Given the description of an element on the screen output the (x, y) to click on. 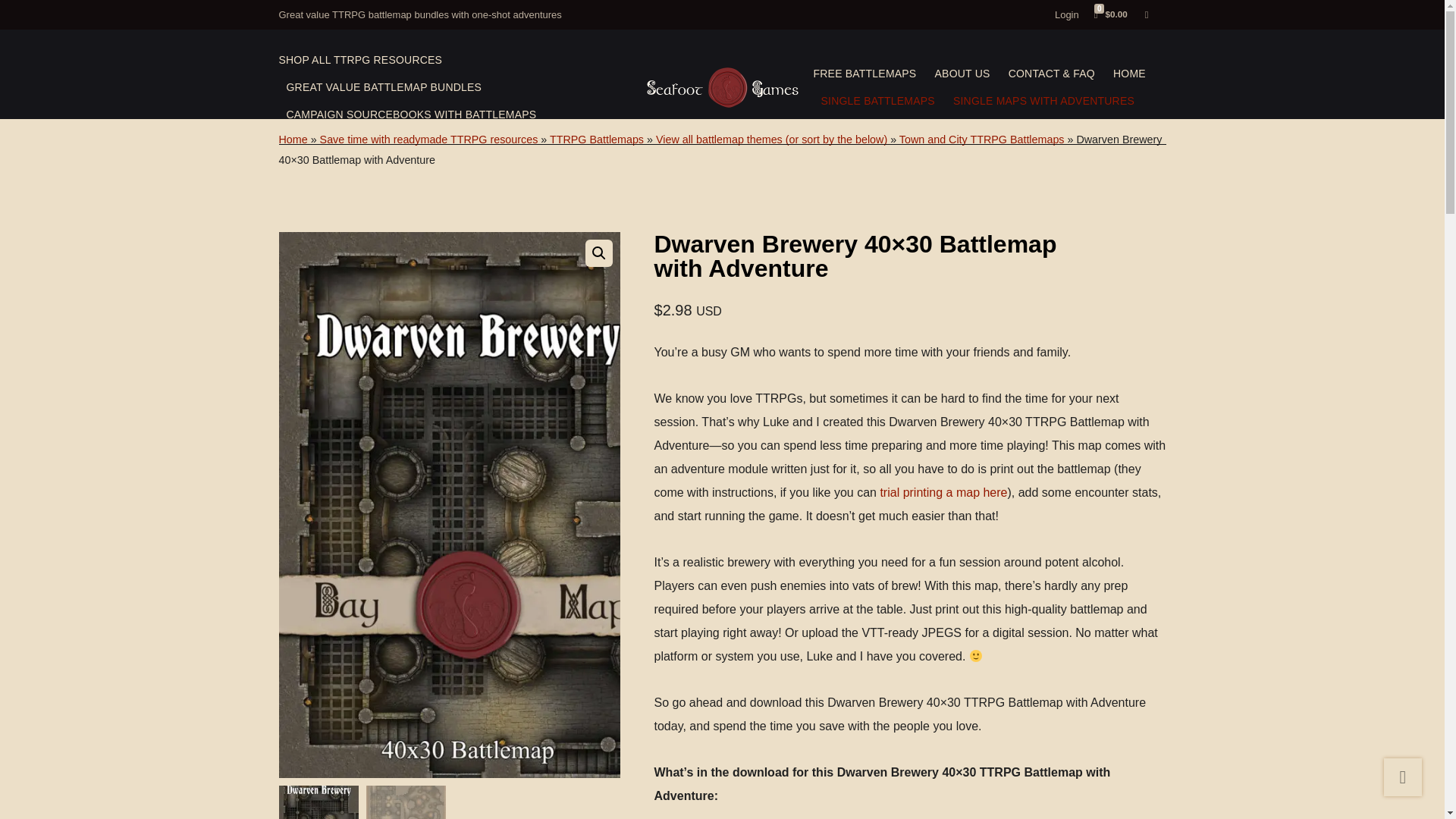
HOME (1129, 72)
SINGLE MAPS WITH ADVENTURES (1043, 100)
Save time with readymade TTRPG resources (429, 139)
ABOUT US (962, 72)
Login (1066, 14)
CAMPAIGN SOURCEBOOKS WITH BATTLEMAPS (411, 113)
trial printing a map here (943, 492)
Home (293, 139)
FREE BATTLEMAPS (863, 72)
TTRPG Battlemaps (596, 139)
